Given the description of an element on the screen output the (x, y) to click on. 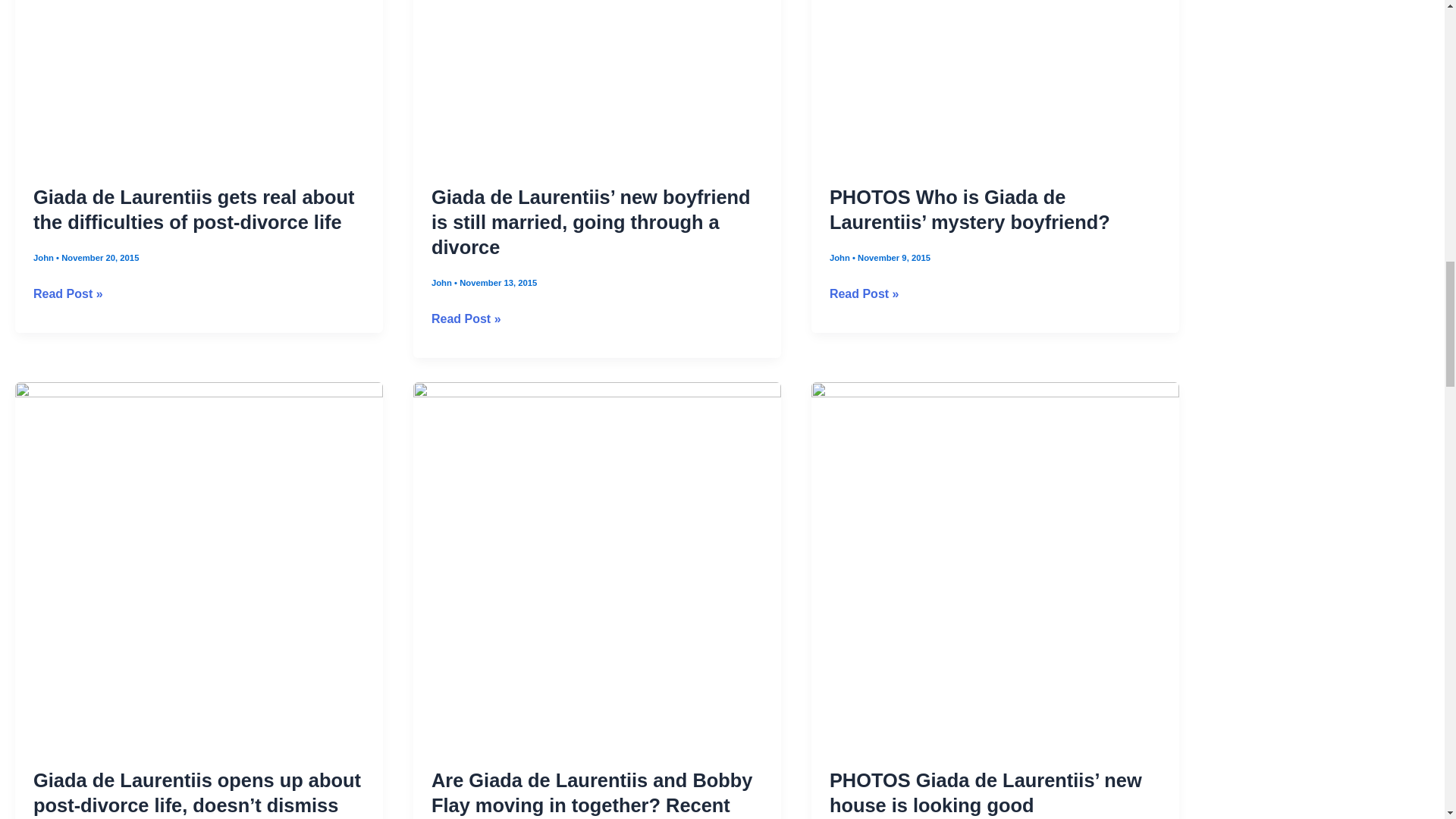
View all posts by John (840, 321)
View all posts by John (442, 347)
View all posts by John (44, 321)
